Given the description of an element on the screen output the (x, y) to click on. 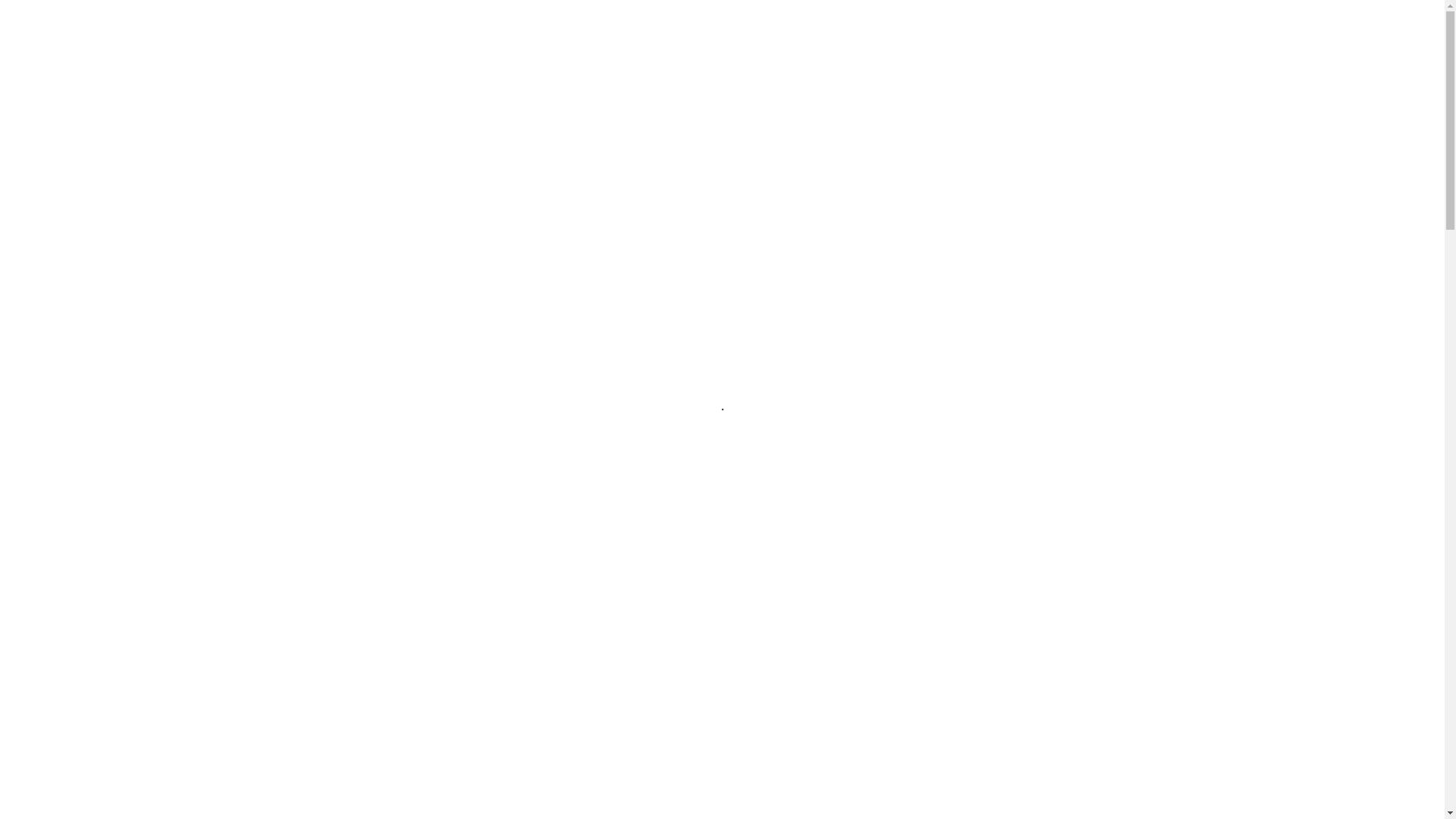
home Element type: text (320, 125)
about us Element type: text (392, 125)
Apply Now! Element type: text (899, 40)
leasing Element type: text (471, 125)
Home Element type: text (313, 188)
private lending Element type: text (843, 125)
corporate fleet Element type: text (569, 125)
APPLY NOW Element type: text (359, 699)
equipment leasing Element type: text (705, 125)
